Given the description of an element on the screen output the (x, y) to click on. 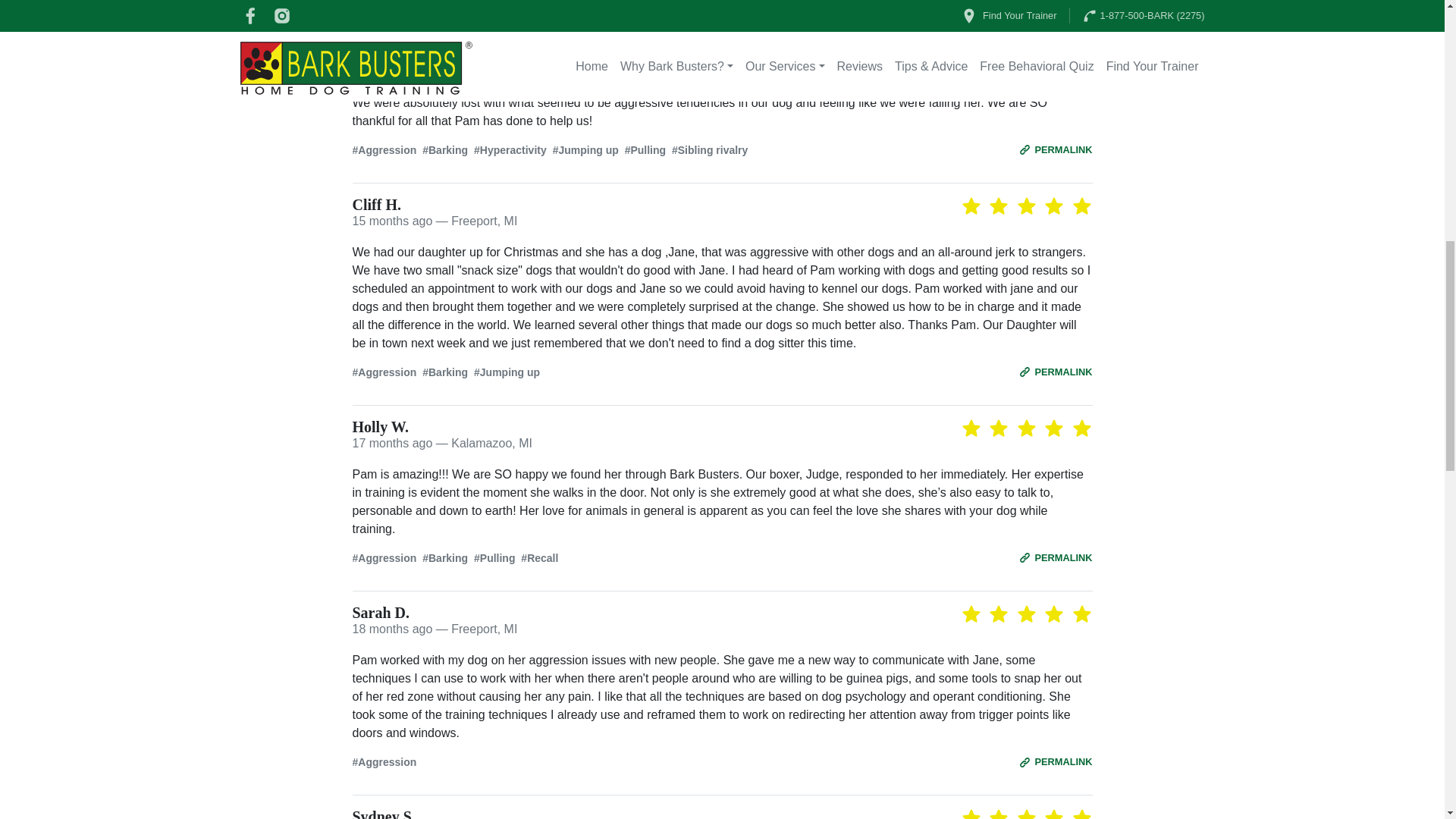
PERMALINK (1056, 371)
Link to review from Sarah D. (1056, 761)
PERMALINK (1056, 557)
PERMALINK (1056, 761)
Link to review from Ellisia V. (1056, 149)
Behaviors (722, 372)
Behaviors (722, 762)
Link to review from Holly W. (1056, 557)
PERMALINK (1056, 149)
Behaviors (722, 558)
Behaviors (722, 150)
Link to review from Cliff H. (1056, 371)
